Given the description of an element on the screen output the (x, y) to click on. 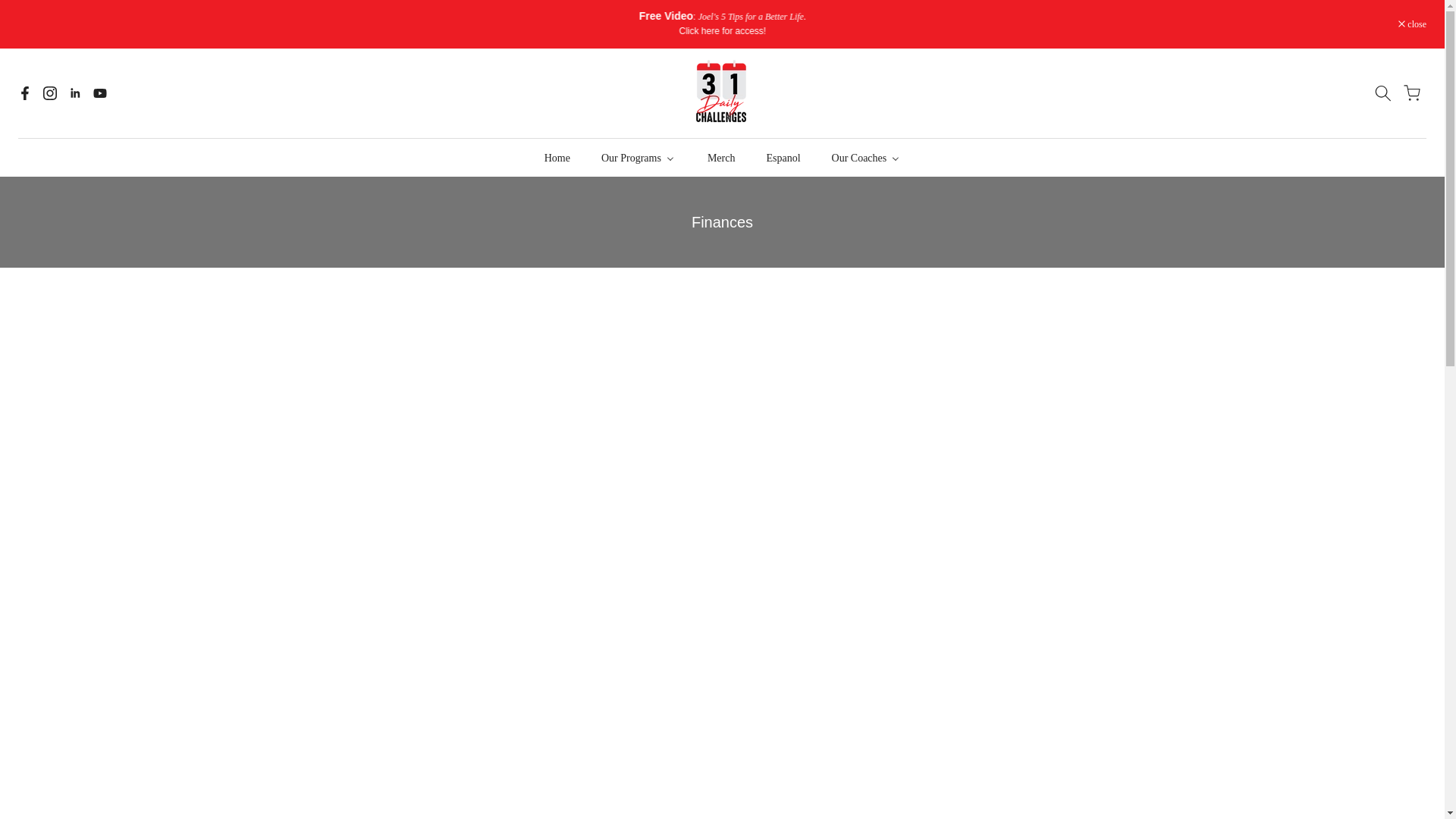
Home (556, 158)
close (1411, 23)
Skip to content (10, 7)
Our Coaches (866, 158)
Merch (719, 158)
Espanol (782, 158)
Our Programs (637, 158)
